Given the description of an element on the screen output the (x, y) to click on. 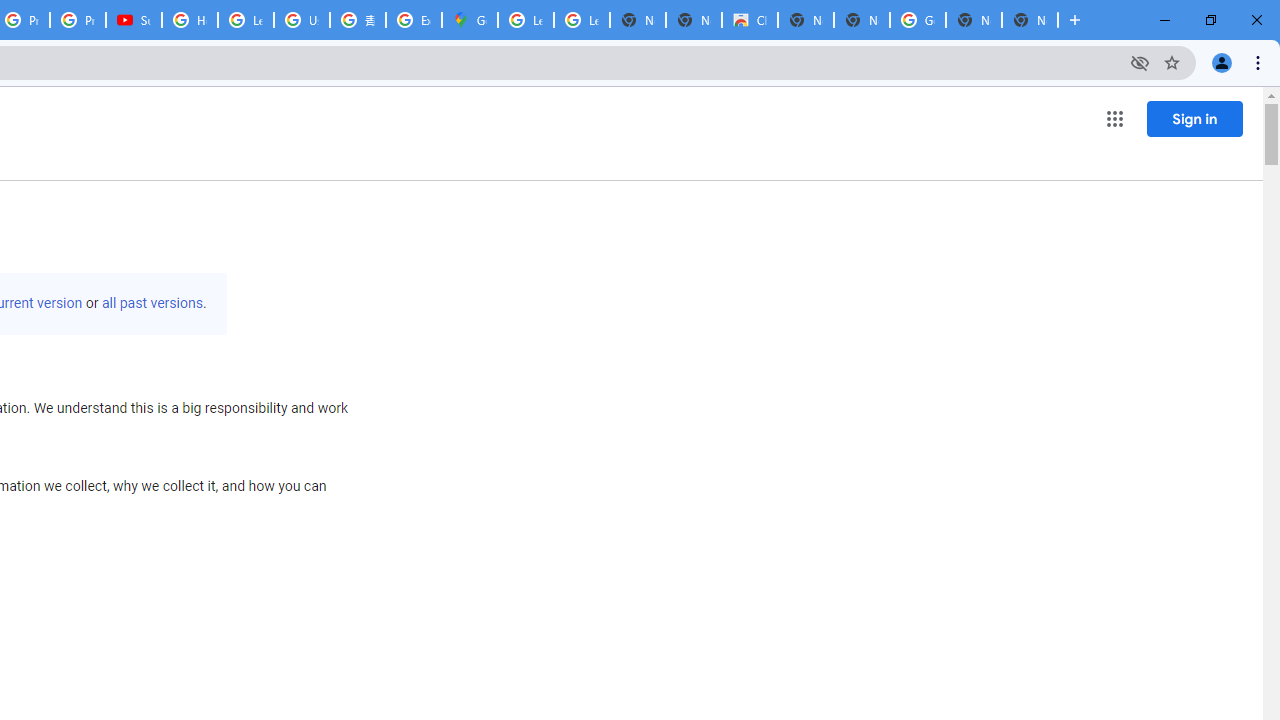
Subscriptions - YouTube (134, 20)
New Tab (1030, 20)
all past versions (152, 303)
